Given the description of an element on the screen output the (x, y) to click on. 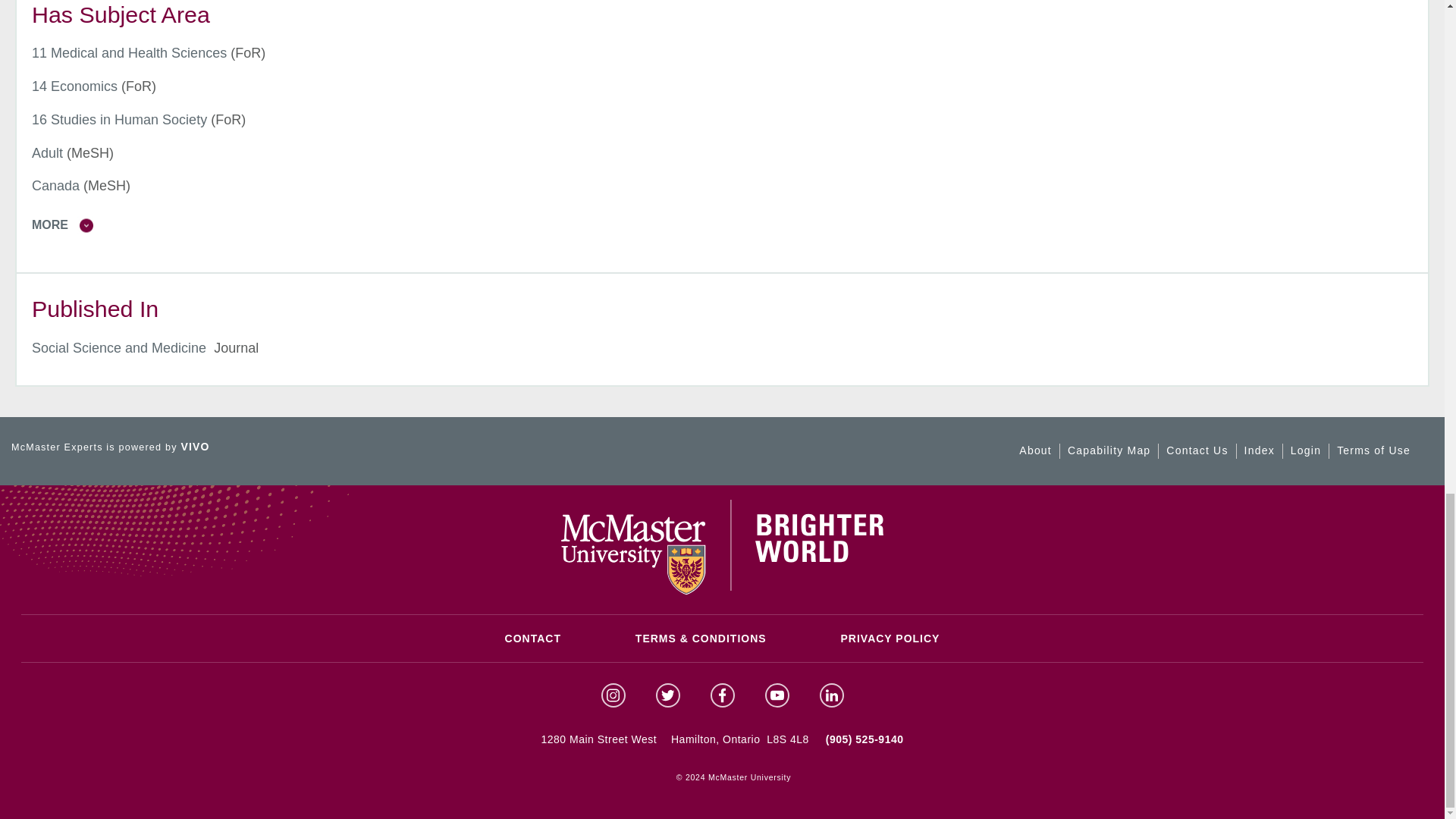
concept name (119, 119)
concept name (47, 152)
concept name (74, 86)
concept name (129, 52)
